Given the description of an element on the screen output the (x, y) to click on. 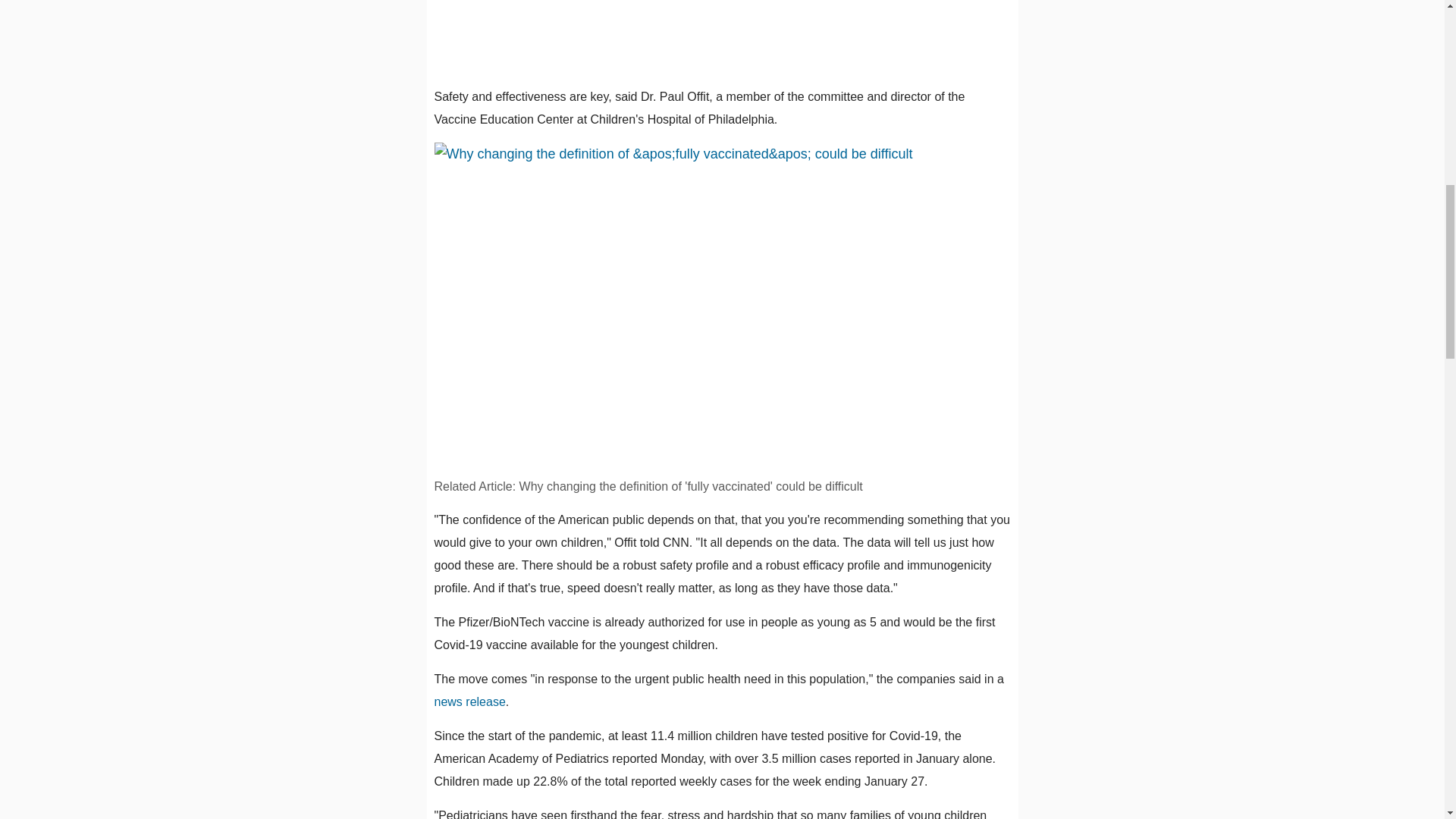
news release (469, 701)
